Given the description of an element on the screen output the (x, y) to click on. 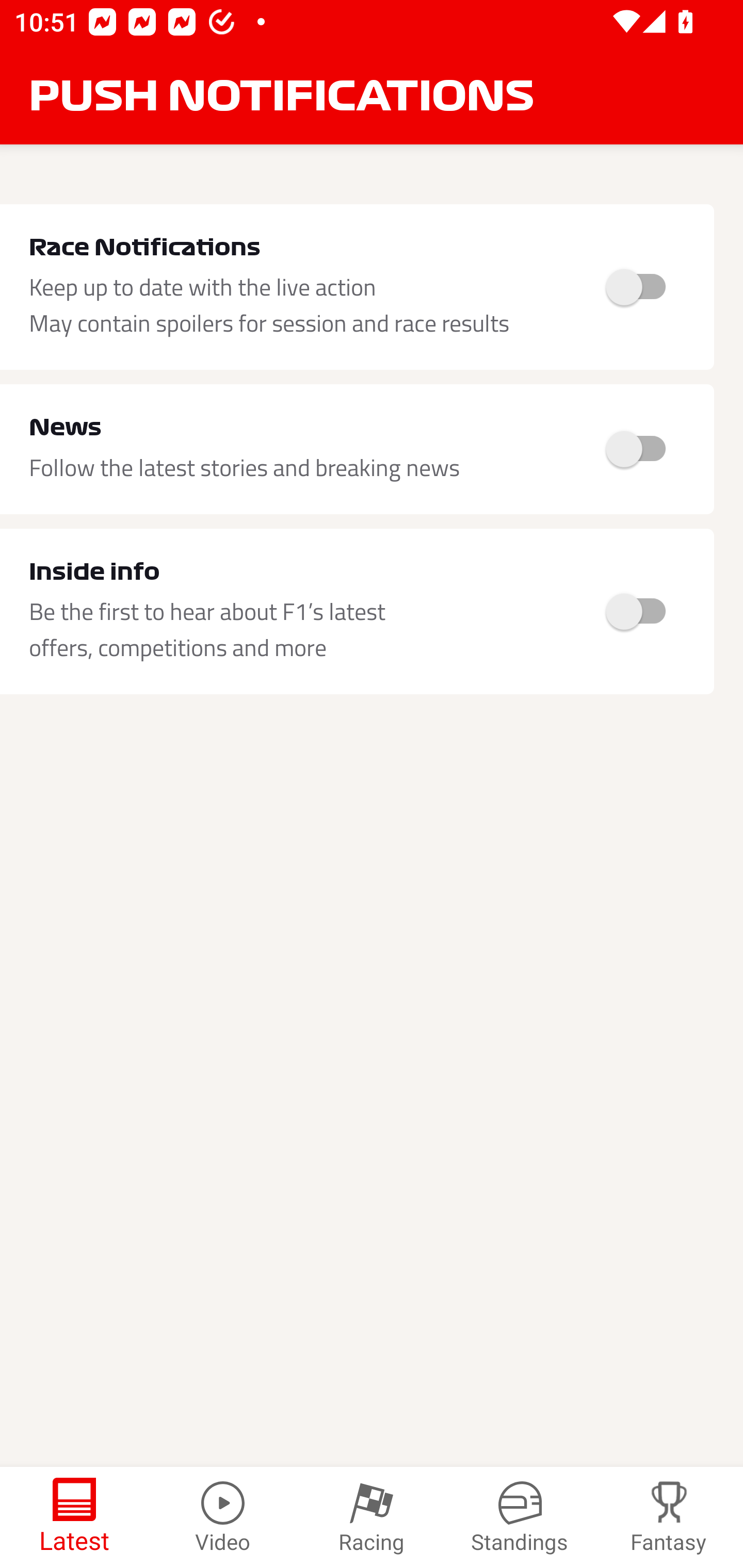
Video (222, 1517)
Racing (371, 1517)
Standings (519, 1517)
Fantasy (668, 1517)
